Given the description of an element on the screen output the (x, y) to click on. 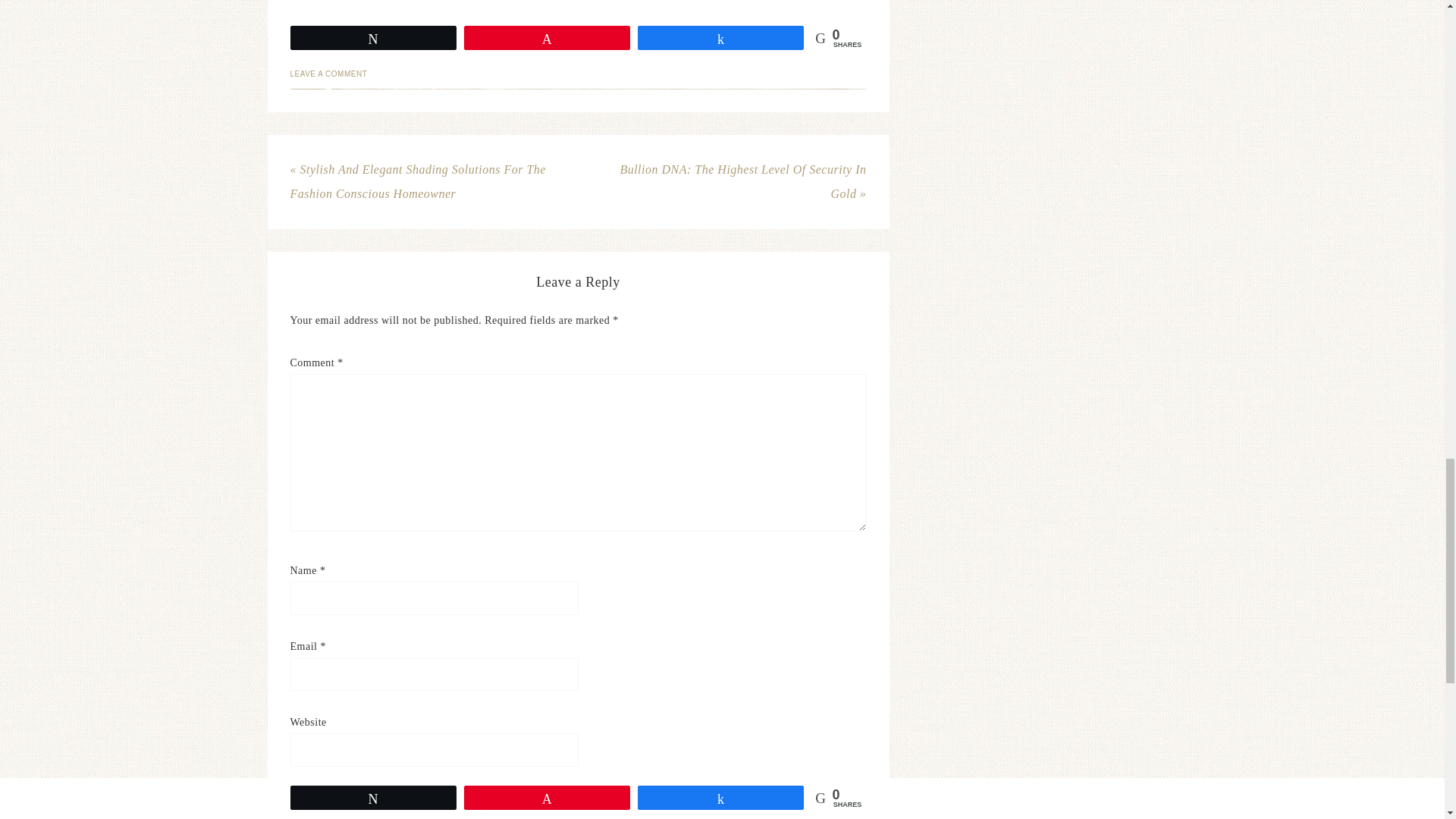
Post Comment (363, 803)
LEAVE A COMMENT (327, 73)
Post Comment (363, 803)
